Given the description of an element on the screen output the (x, y) to click on. 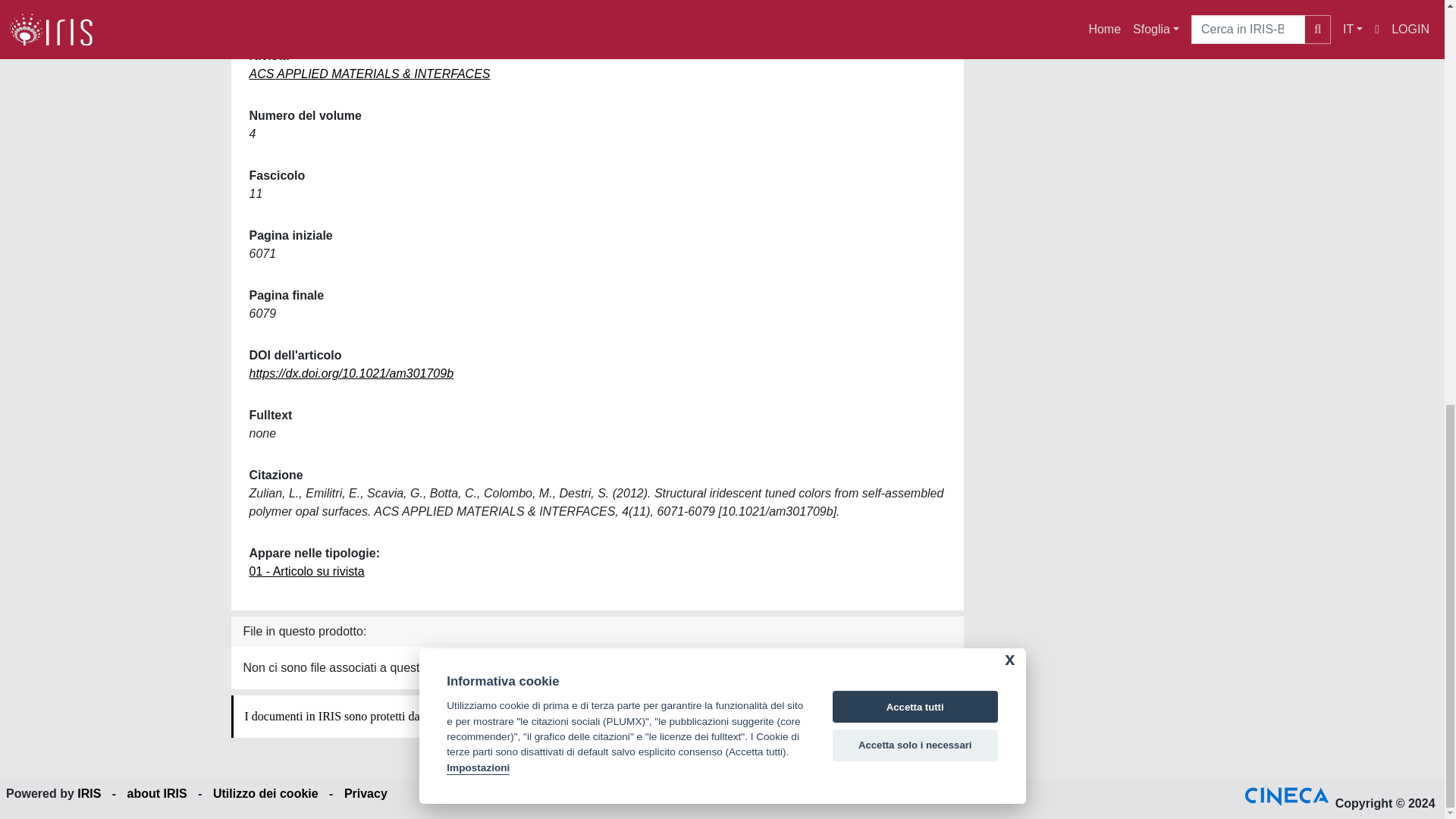
01 - Articolo su rivista (306, 571)
